Given the description of an element on the screen output the (x, y) to click on. 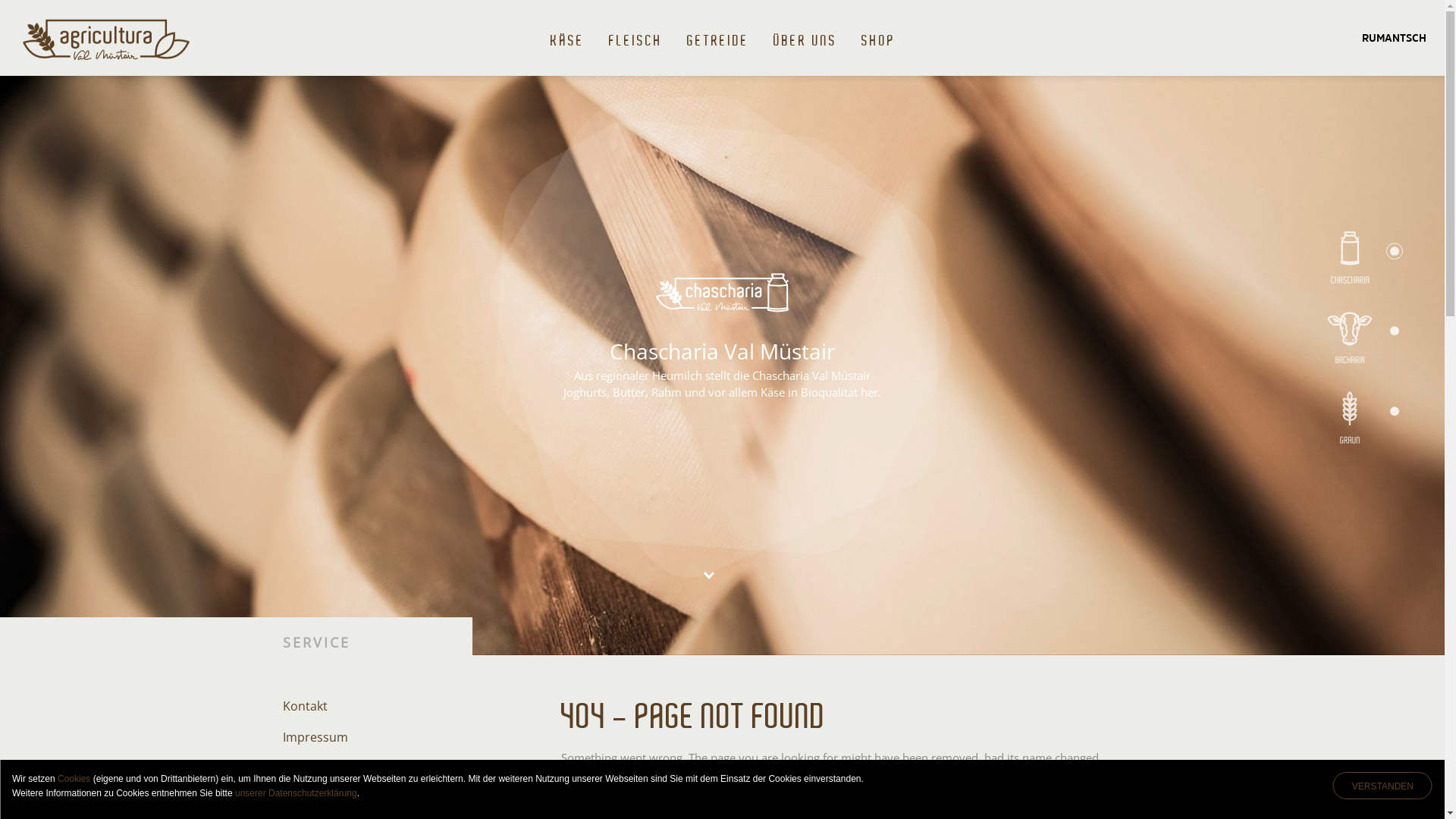
FLEISCH Element type: text (635, 37)
GETREIDE Element type: text (717, 37)
RUMANTSCH Element type: text (1393, 37)
SHOP Element type: text (878, 37)
Kontakt Element type: text (304, 705)
Datenschutzverordnung Element type: text (352, 767)
Cookies Element type: text (73, 778)
Impressum Element type: text (314, 736)
VERSTANDEN Element type: text (1382, 785)
